Given the description of an element on the screen output the (x, y) to click on. 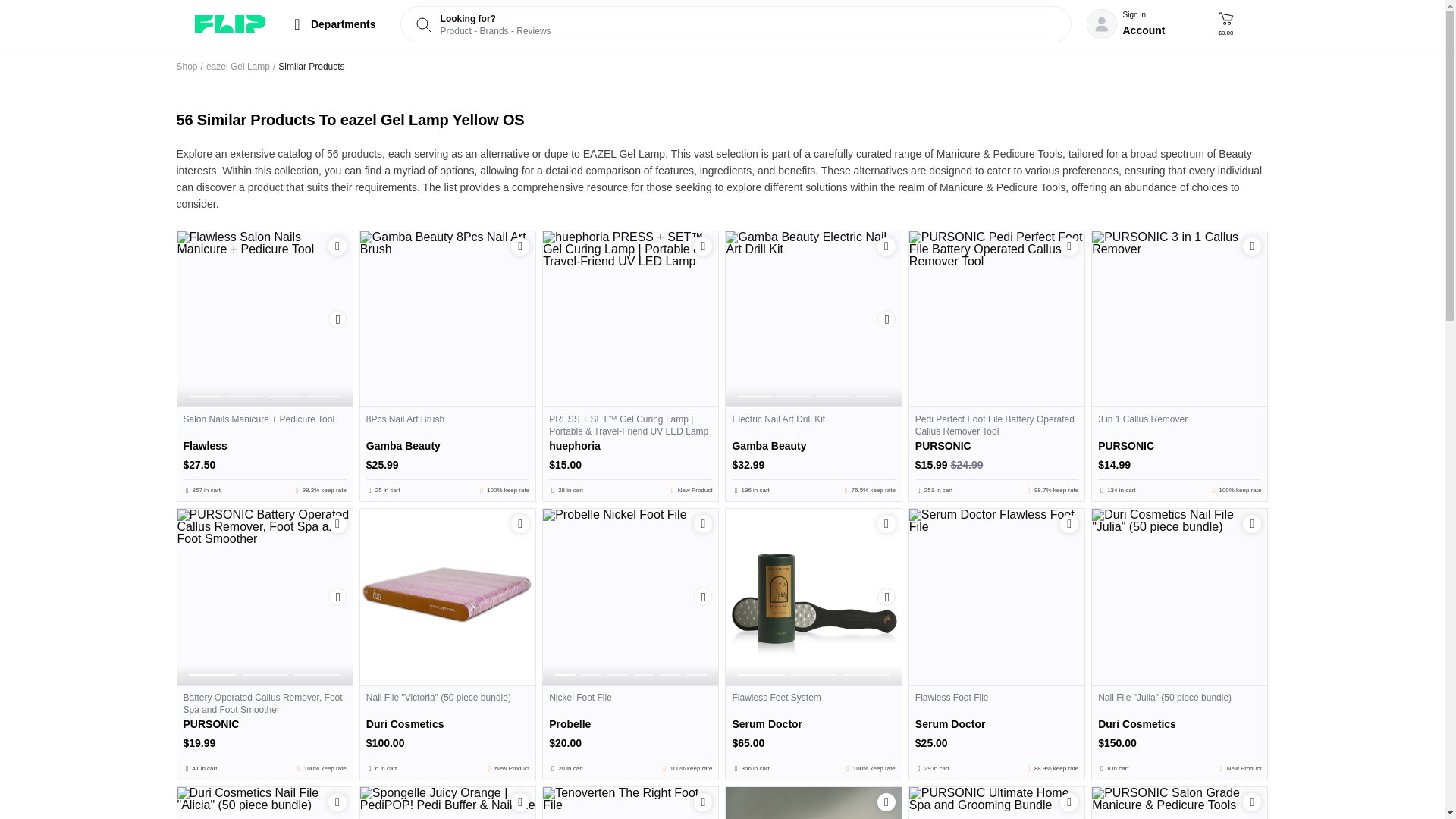
Add to Cart (1251, 246)
Departments (333, 23)
Add to Cart (337, 524)
Electric Nail Art Drill Kit (813, 453)
Add to Cart (519, 246)
Add to Cart (886, 246)
Pedi Perfect Foot File Battery Operated Callus Remover Tool (996, 453)
Gamba Beauty 8Pcs Nail Art Brush (447, 318)
Add to Cart (1068, 246)
